Given the description of an element on the screen output the (x, y) to click on. 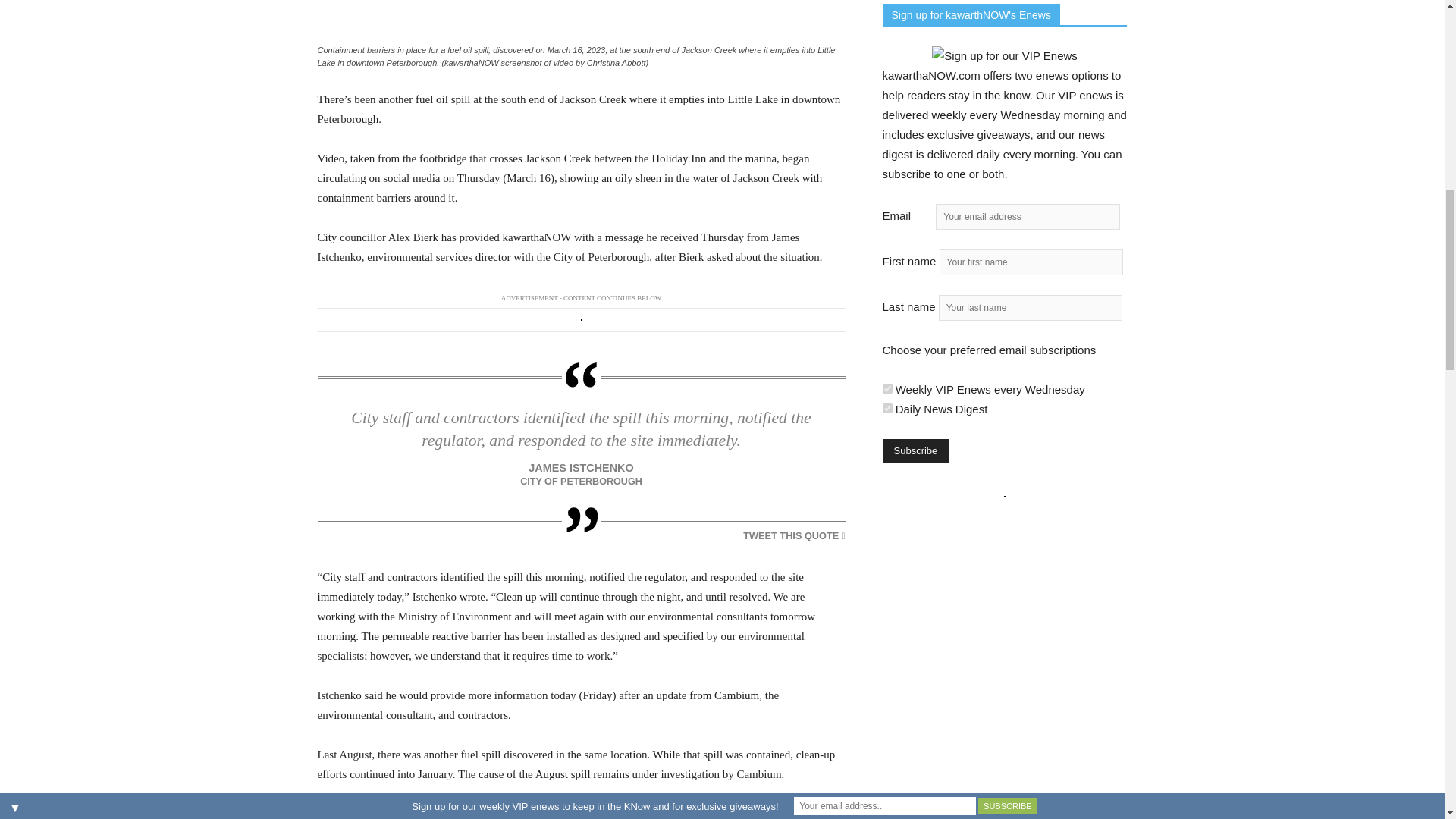
db73b12d6e (887, 388)
324c67885b (887, 408)
Subscribe (915, 450)
